Given the description of an element on the screen output the (x, y) to click on. 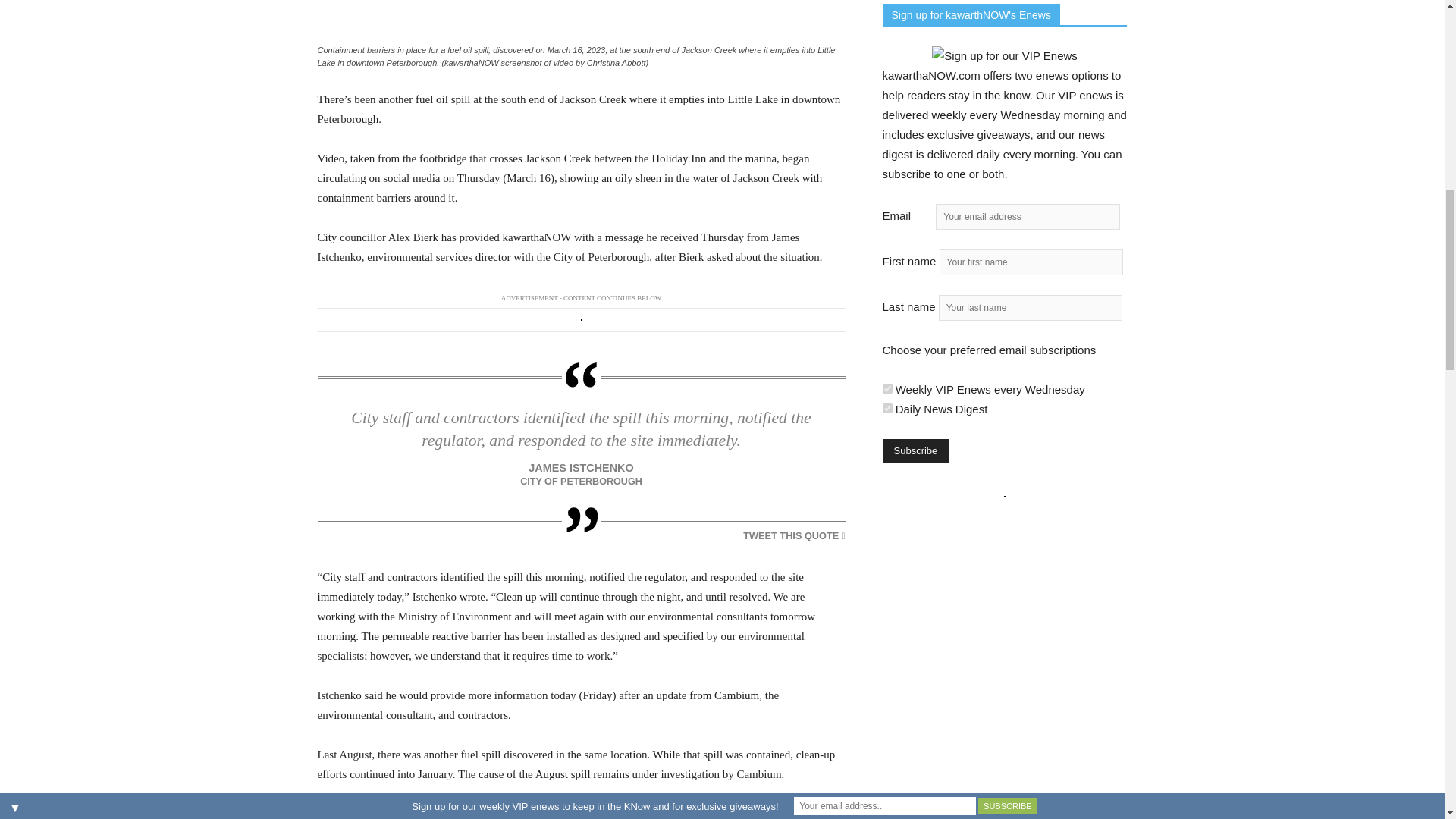
db73b12d6e (887, 388)
324c67885b (887, 408)
Subscribe (915, 450)
